Given the description of an element on the screen output the (x, y) to click on. 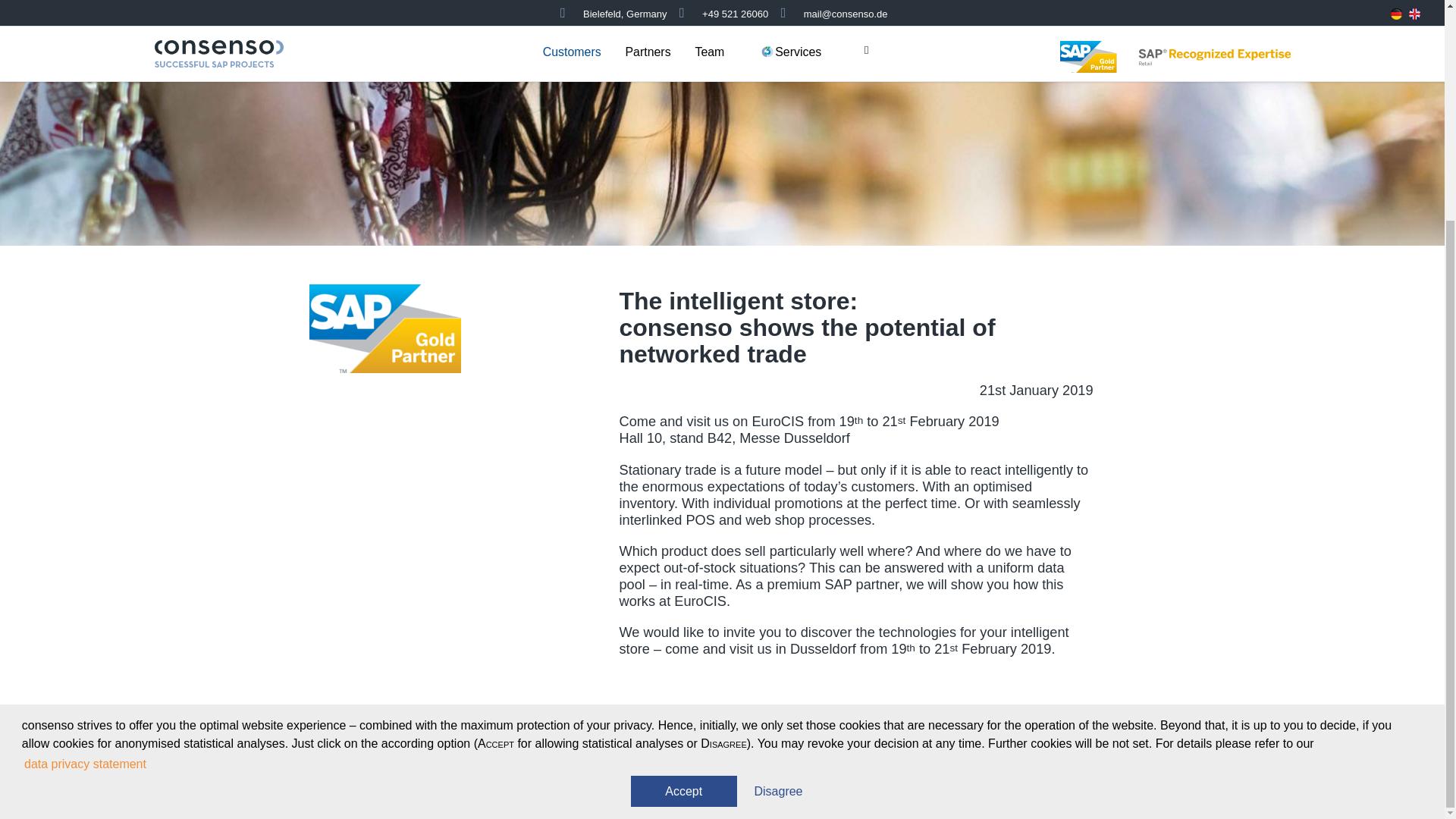
Accept (683, 499)
data privacy statement (84, 472)
Disagree (777, 499)
